Given the description of an element on the screen output the (x, y) to click on. 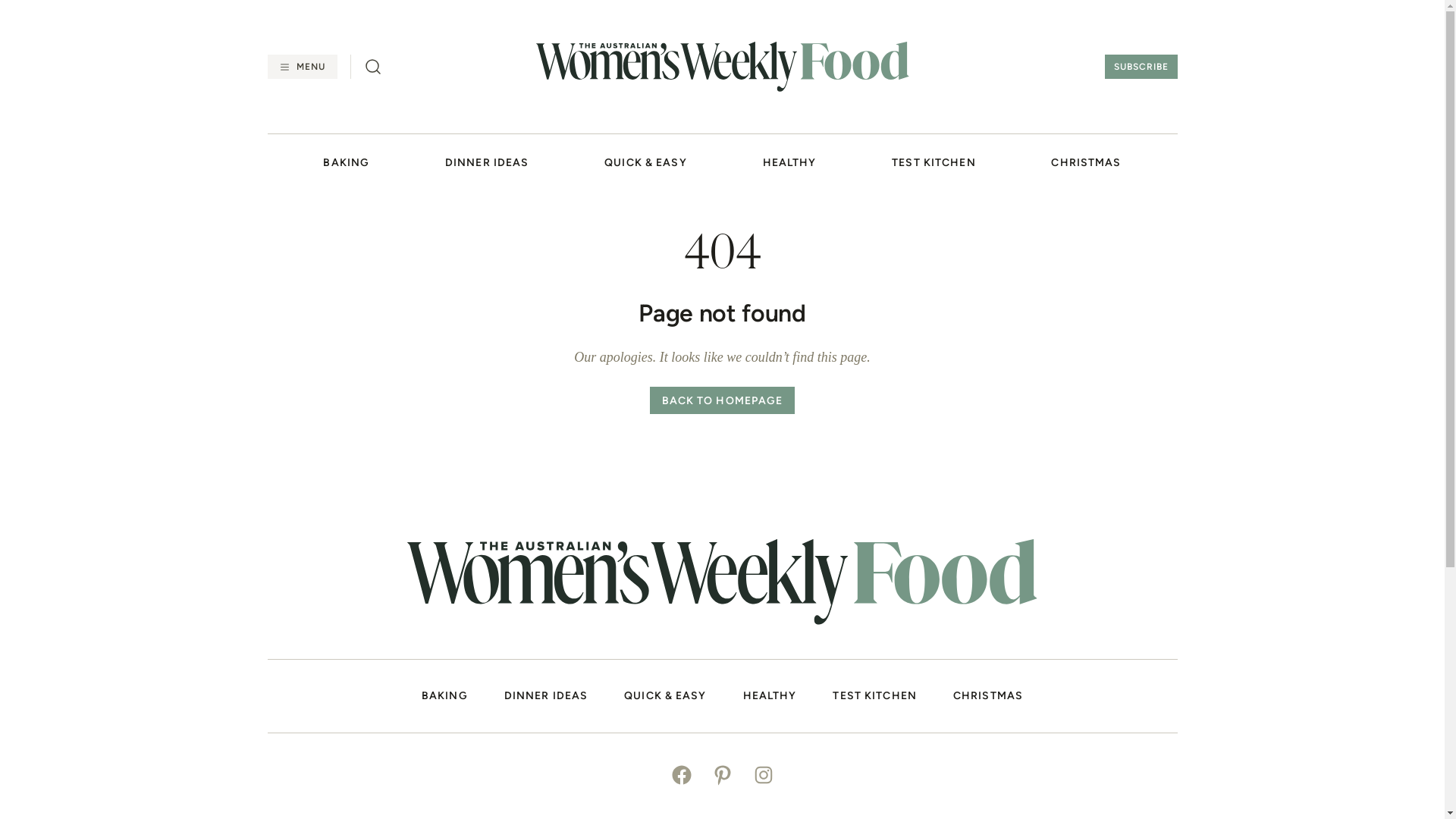
CHRISTMAS Element type: text (987, 696)
HEALTHY Element type: text (770, 696)
CHRISTMAS Element type: text (1085, 162)
HEALTHY Element type: text (789, 162)
TEST KITCHEN Element type: text (874, 696)
QUICK & EASY Element type: text (665, 696)
Pinterest Element type: text (722, 775)
TEST KITCHEN Element type: text (933, 162)
BAKING Element type: text (346, 162)
QUICK & EASY Element type: text (645, 162)
BACK TO HOMEPAGE Element type: text (722, 400)
Facebook Element type: text (681, 775)
MENU Element type: text (301, 66)
BAKING Element type: text (444, 696)
SUBSCRIBE Element type: text (1140, 66)
Instagram Element type: text (763, 775)
DINNER IDEAS Element type: text (545, 696)
DINNER IDEAS Element type: text (486, 162)
